Given the description of an element on the screen output the (x, y) to click on. 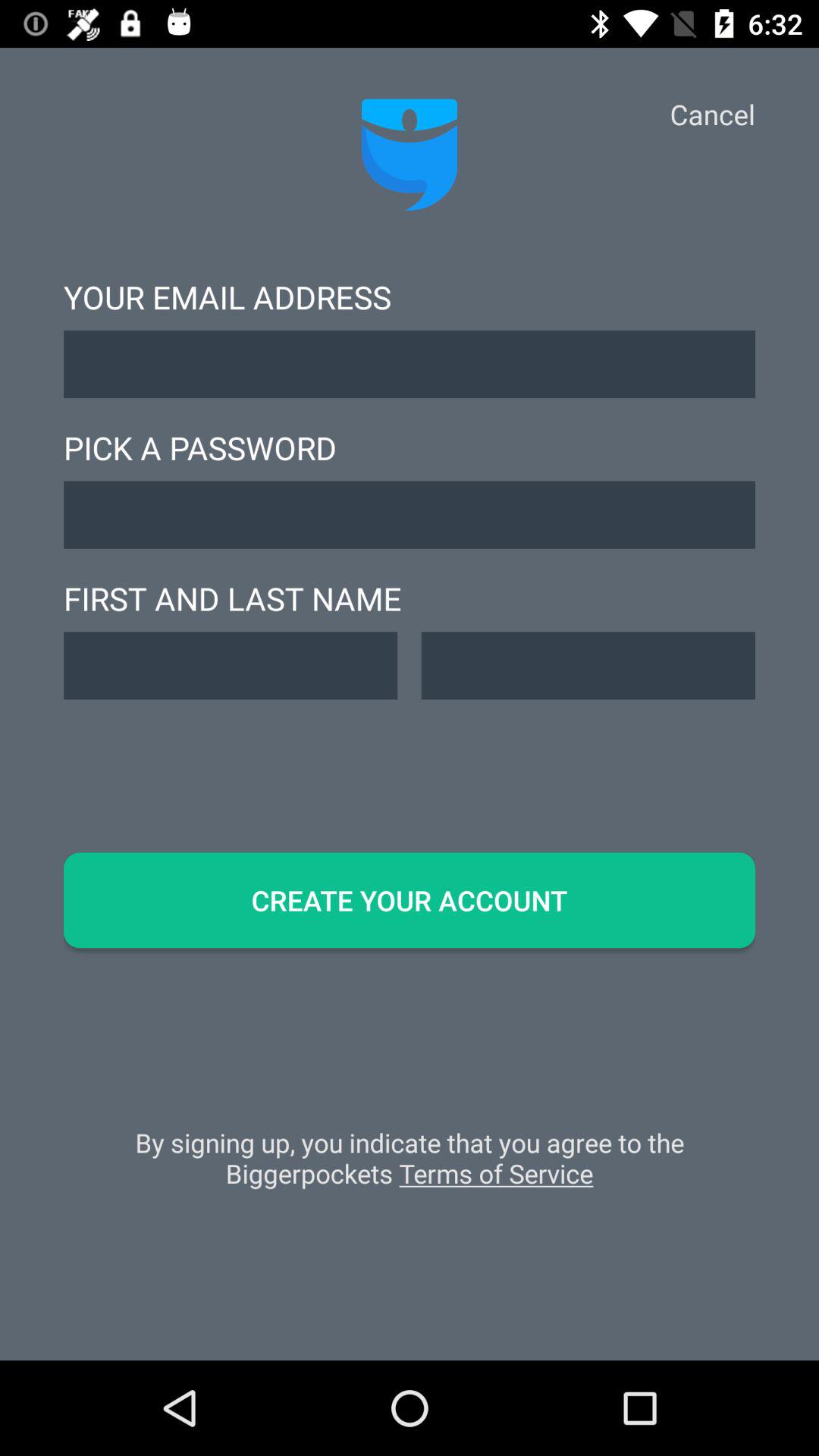
press the by signing up (409, 1165)
